Given the description of an element on the screen output the (x, y) to click on. 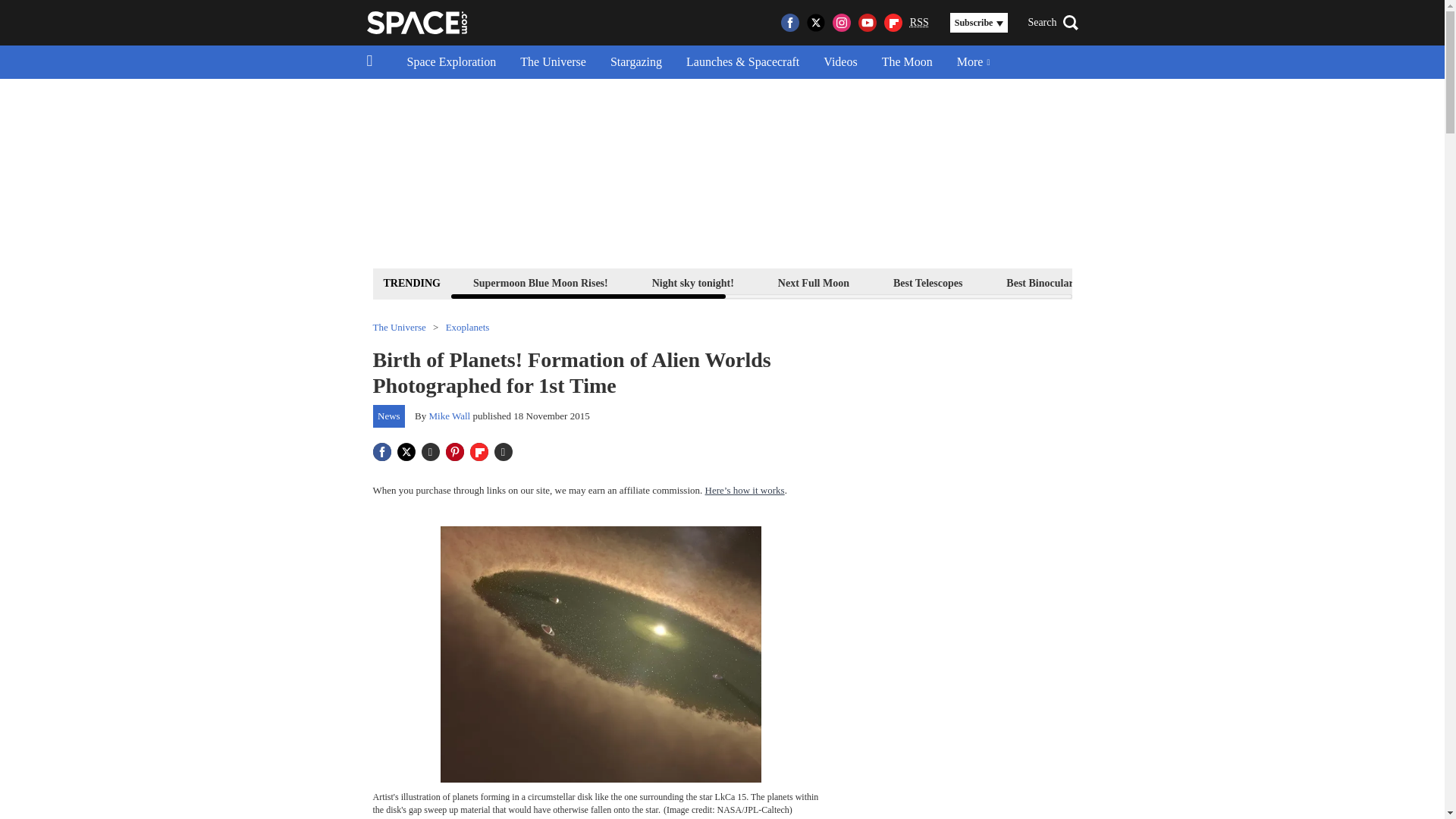
Stargazing (636, 61)
Best Telescopes (928, 282)
Next Full Moon (813, 282)
Really Simple Syndication (919, 21)
Space Exploration (451, 61)
The Universe (553, 61)
The Moon (906, 61)
Space Calendar (1291, 282)
Best Binoculars (1042, 282)
Videos (839, 61)
